Given the description of an element on the screen output the (x, y) to click on. 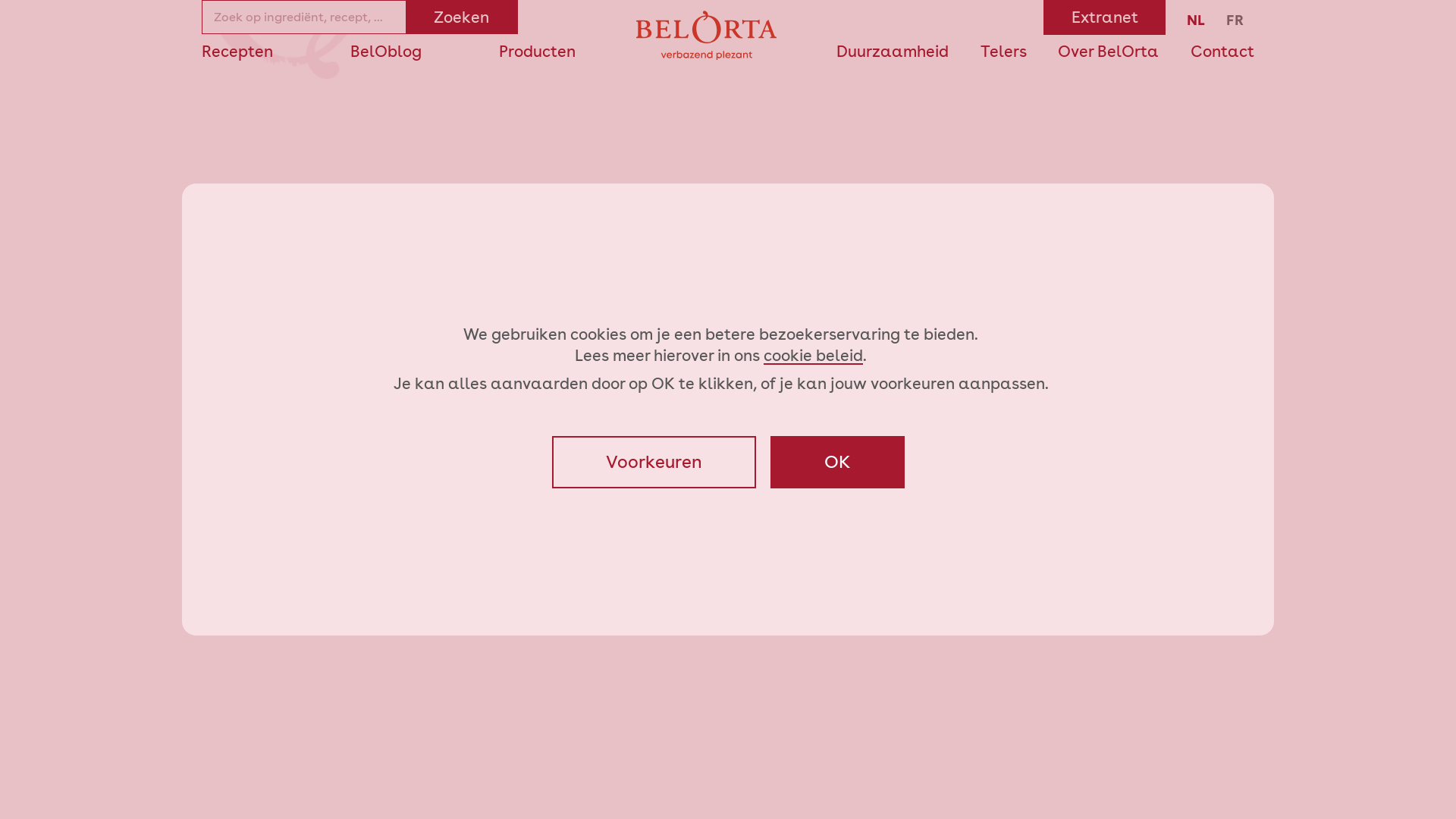
Contact Element type: text (1222, 51)
Over BelOrta Element type: text (1107, 51)
Producten Element type: text (536, 51)
cookie beleid Element type: text (812, 354)
FR Element type: text (1234, 20)
Recepten Element type: text (237, 51)
NL Element type: text (1195, 20)
Duurzaamheid Element type: text (892, 51)
Misschien kunnen onze recepten je inspireren? Element type: text (727, 493)
Extranet Element type: text (1104, 17)
OK Element type: text (837, 462)
Telers Element type: text (1003, 51)
BelOblog Element type: text (385, 51)
Zoeken Element type: text (460, 16)
Voorkeuren Element type: text (654, 462)
